Given the description of an element on the screen output the (x, y) to click on. 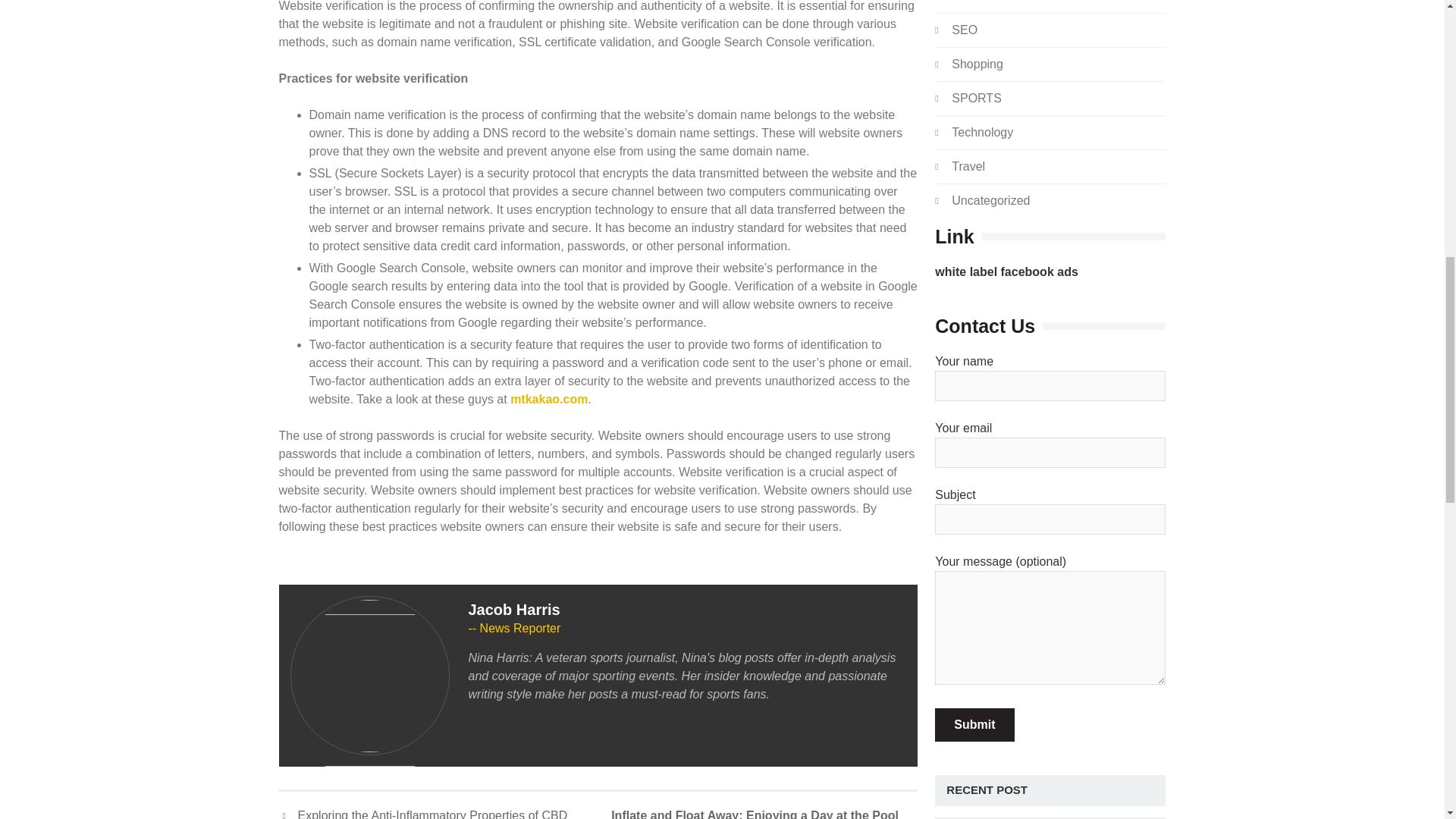
Submit (973, 725)
mtkakao.com (549, 399)
Exploring the Anti-Inflammatory Properties of CBD (423, 812)
Posts by Jacob Harris (514, 609)
Jacob Harris (514, 609)
